Given the description of an element on the screen output the (x, y) to click on. 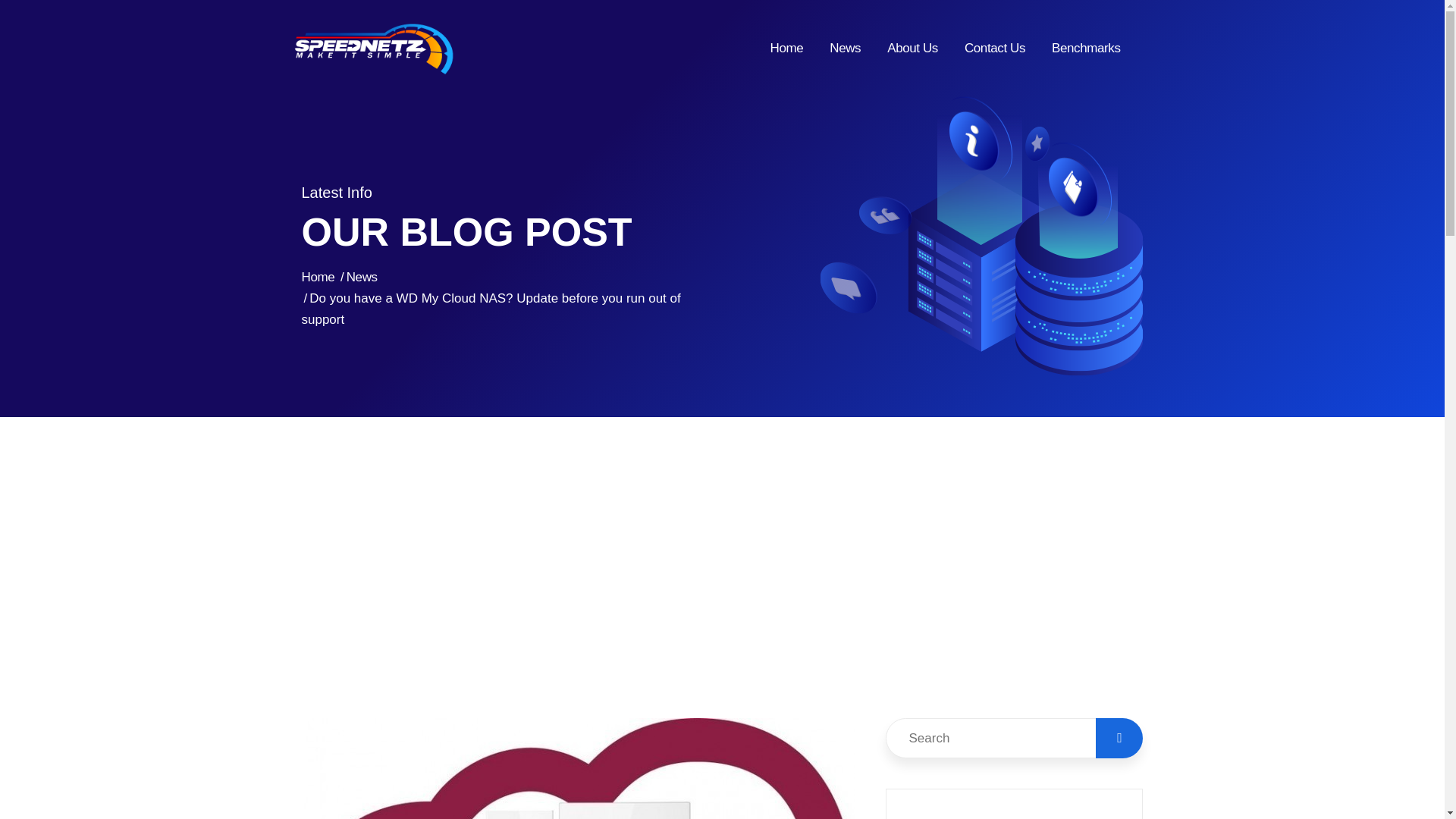
Home (317, 277)
News (361, 277)
Benchmarks (1085, 48)
